Given the description of an element on the screen output the (x, y) to click on. 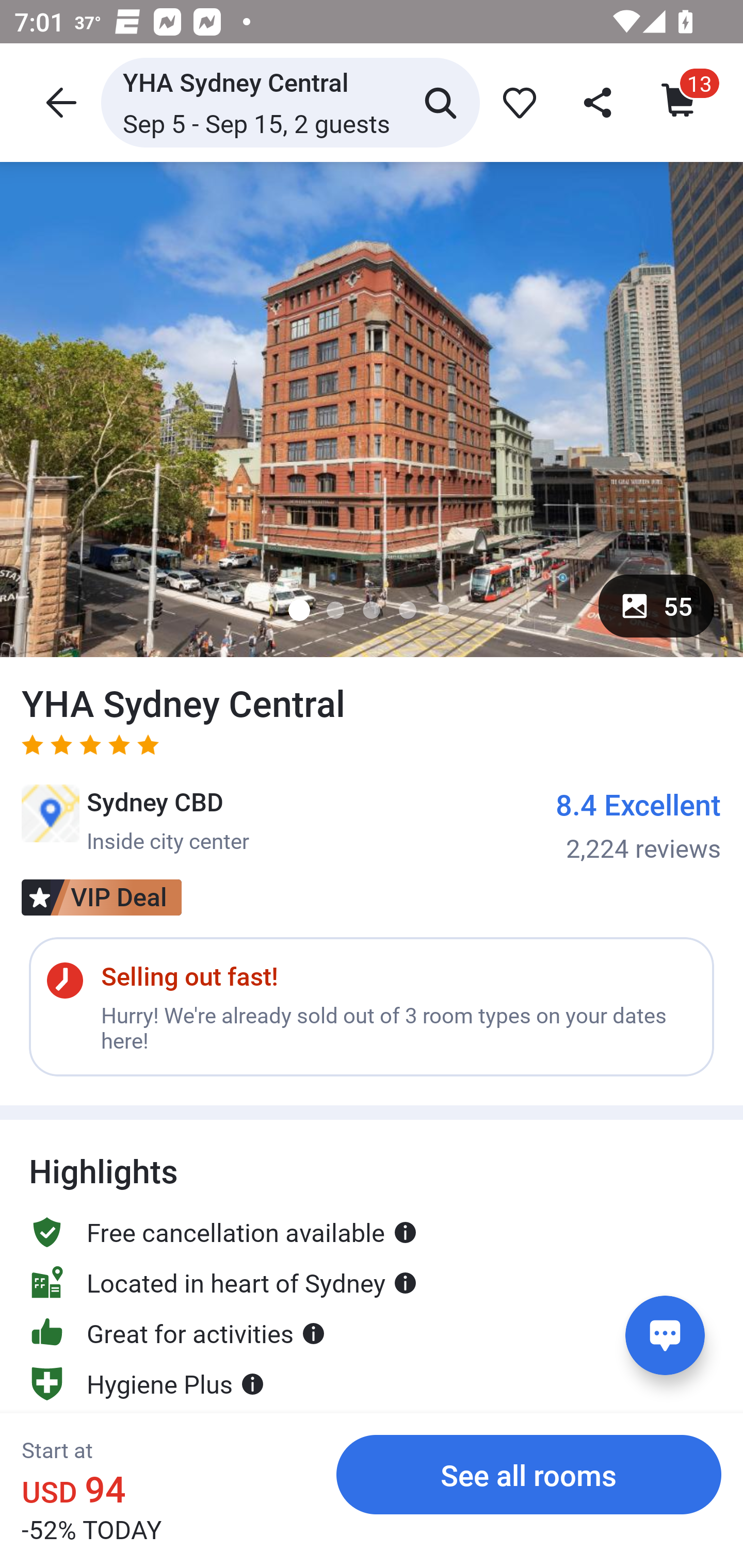
header icon (59, 102)
favorite_icon 0dbe6efb (515, 102)
share_header_icon (598, 102)
Cart icon cart_item_count 13 (679, 102)
image (371, 408)
55 (656, 605)
Sydney CBD Inside city center (134, 819)
8.4 Excellent 2,224 reviews (638, 824)
Free cancellation available (222, 1213)
Located in heart of Sydney (222, 1282)
Great for activities (177, 1333)
Hygiene Plus (146, 1365)
See all rooms (528, 1474)
